Given the description of an element on the screen output the (x, y) to click on. 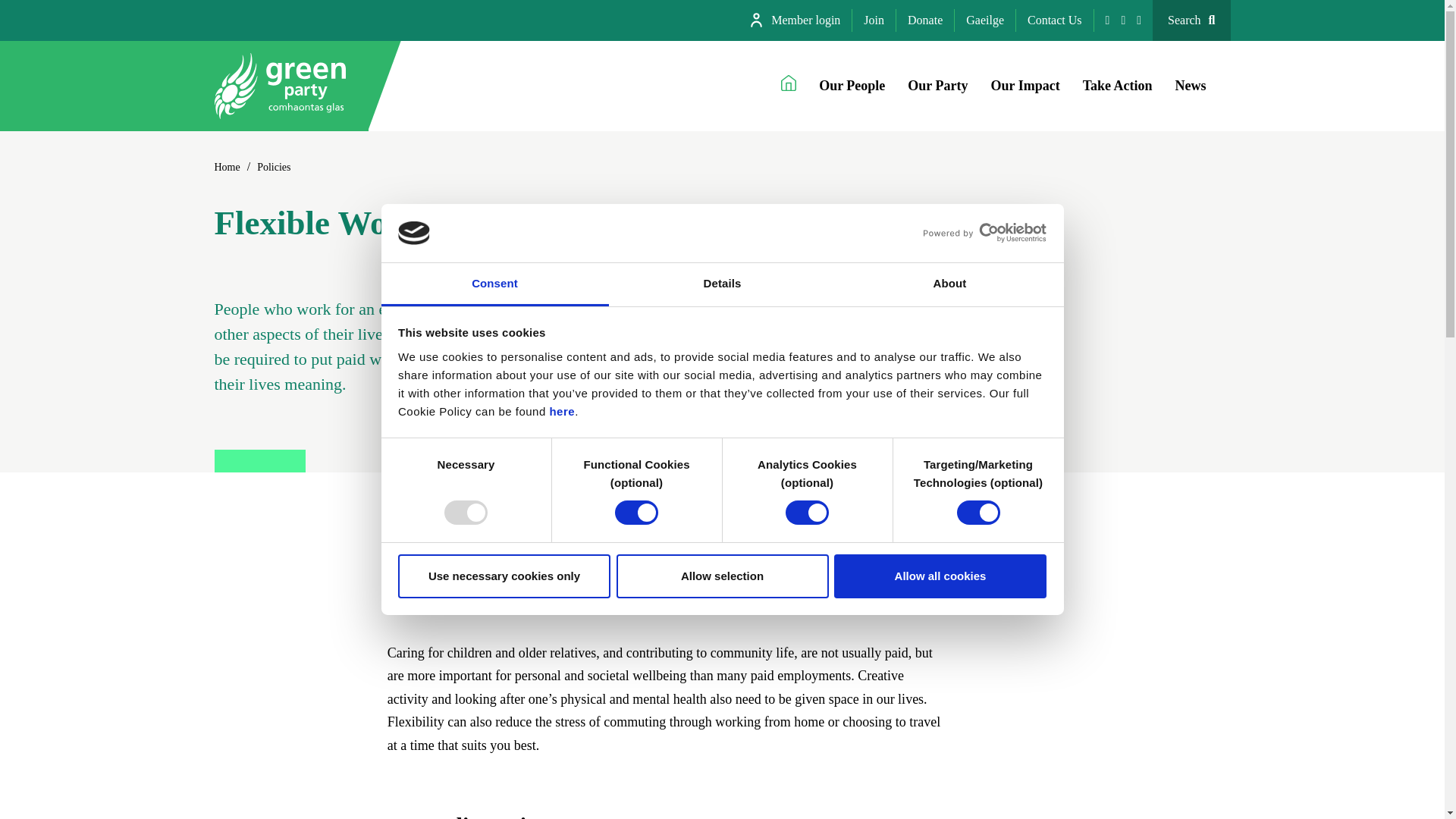
Consent (494, 284)
here (561, 410)
About (948, 284)
Details (721, 284)
